Given the description of an element on the screen output the (x, y) to click on. 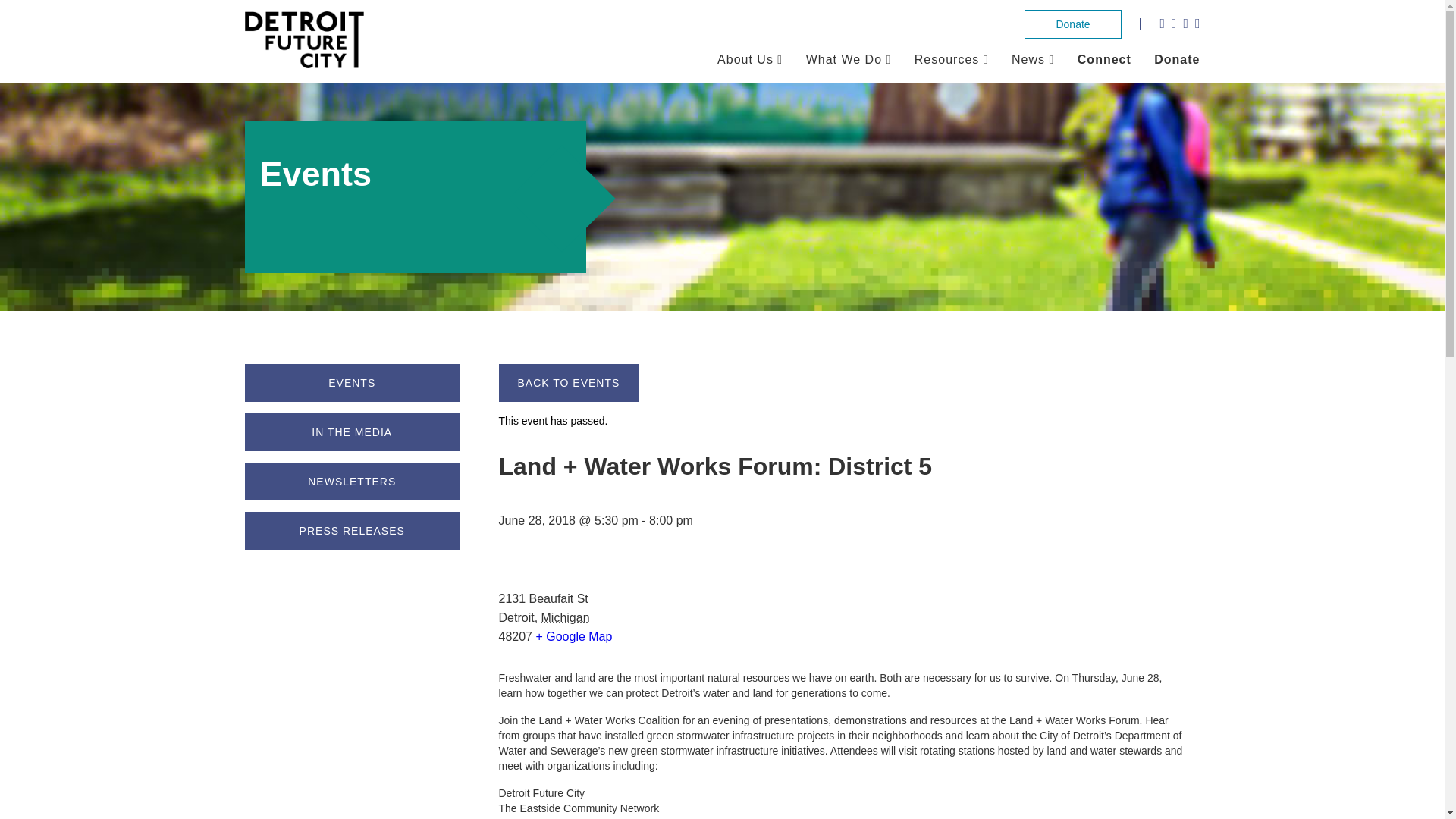
What We Do (844, 59)
News (1028, 59)
About Us (745, 59)
PRESS RELEASES (352, 530)
BACK TO EVENTS (569, 382)
Donate (1176, 59)
NEWSLETTERS (352, 481)
Click to view a Google Map (573, 635)
Resources (946, 59)
EVENTS (352, 382)
